Given the description of an element on the screen output the (x, y) to click on. 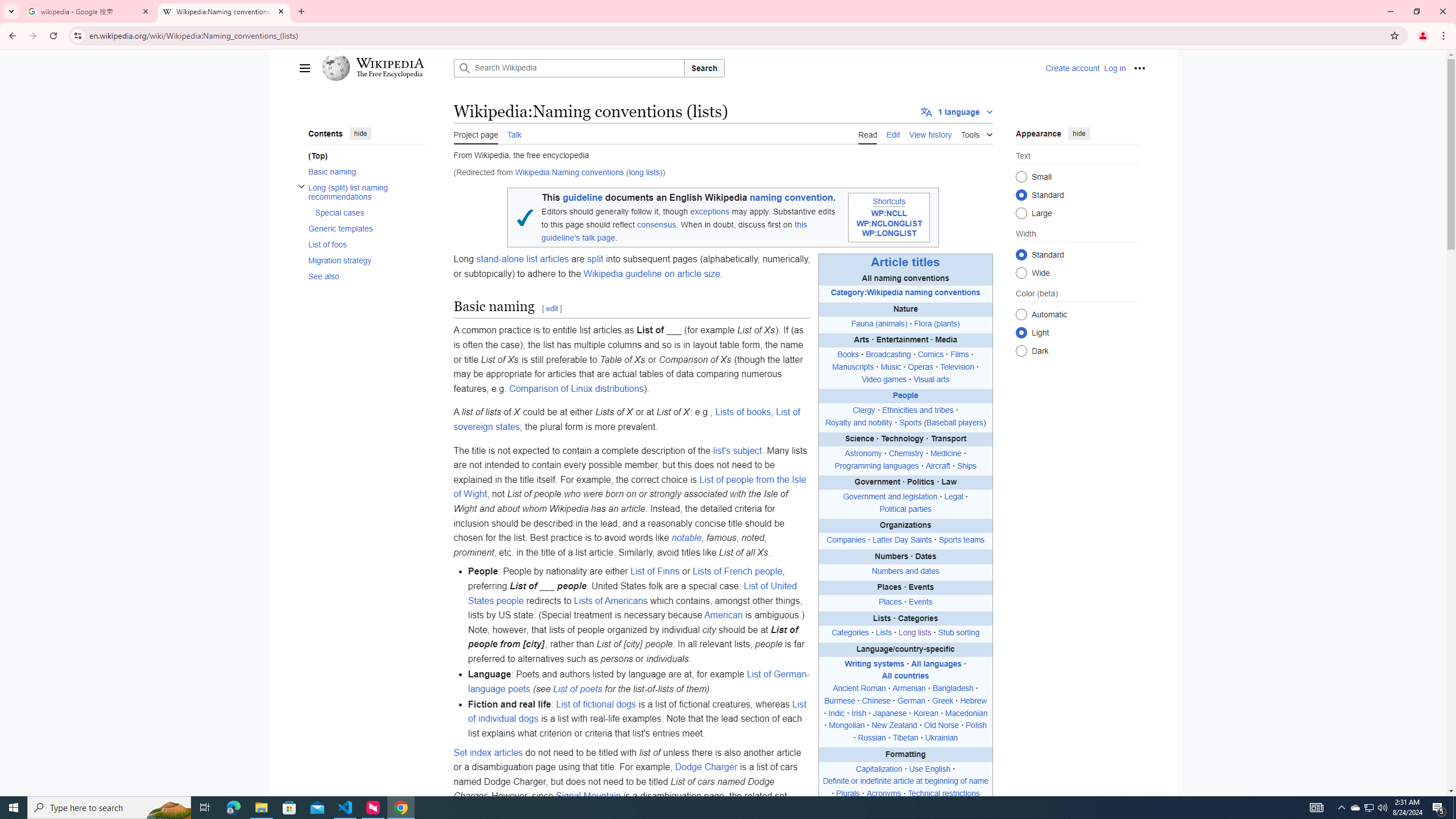
Political parties (905, 508)
Ships (966, 465)
